Given the description of an element on the screen output the (x, y) to click on. 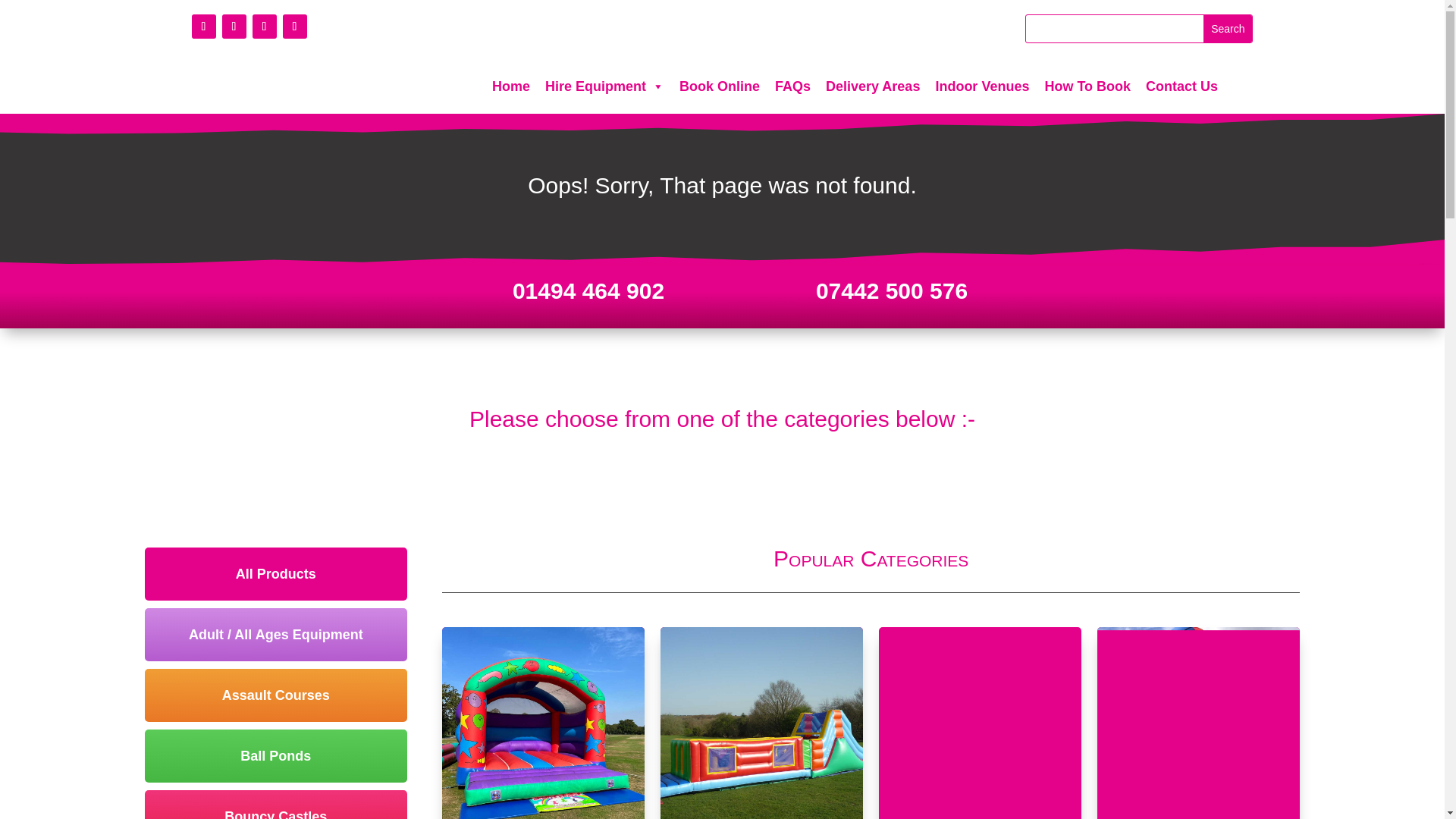
Assault Courses (275, 695)
How To Book (1087, 86)
Hire Equipment (604, 86)
FAQs (792, 86)
Delivery Areas (872, 86)
Ball Ponds (275, 755)
Home (510, 86)
Search (1228, 28)
Search (1228, 28)
Search (1228, 28)
Follow on Youtube (263, 26)
Bouncy Castles (275, 804)
All Products (275, 573)
Book Online (719, 86)
Contact Us (1181, 86)
